Given the description of an element on the screen output the (x, y) to click on. 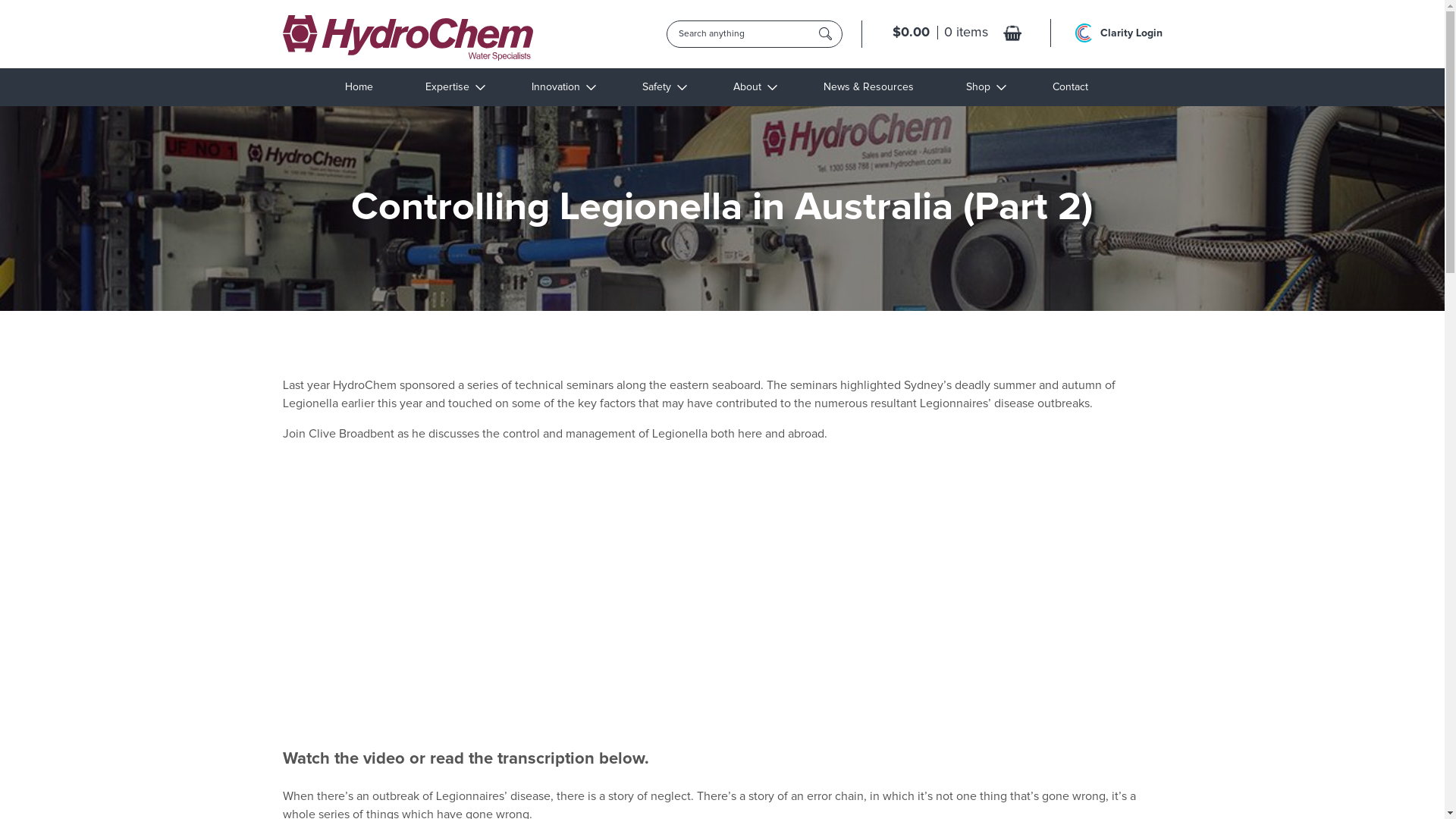
Clarity Login Element type: text (1130, 32)
Shop Element type: text (986, 87)
News & Resources Element type: text (868, 87)
Innovation Element type: text (563, 87)
$0.00 0 items Element type: text (956, 32)
Contact Element type: text (1070, 87)
Home Element type: text (359, 87)
Safety Element type: text (664, 87)
Expertise Element type: text (455, 87)
About Element type: text (755, 87)
